Given the description of an element on the screen output the (x, y) to click on. 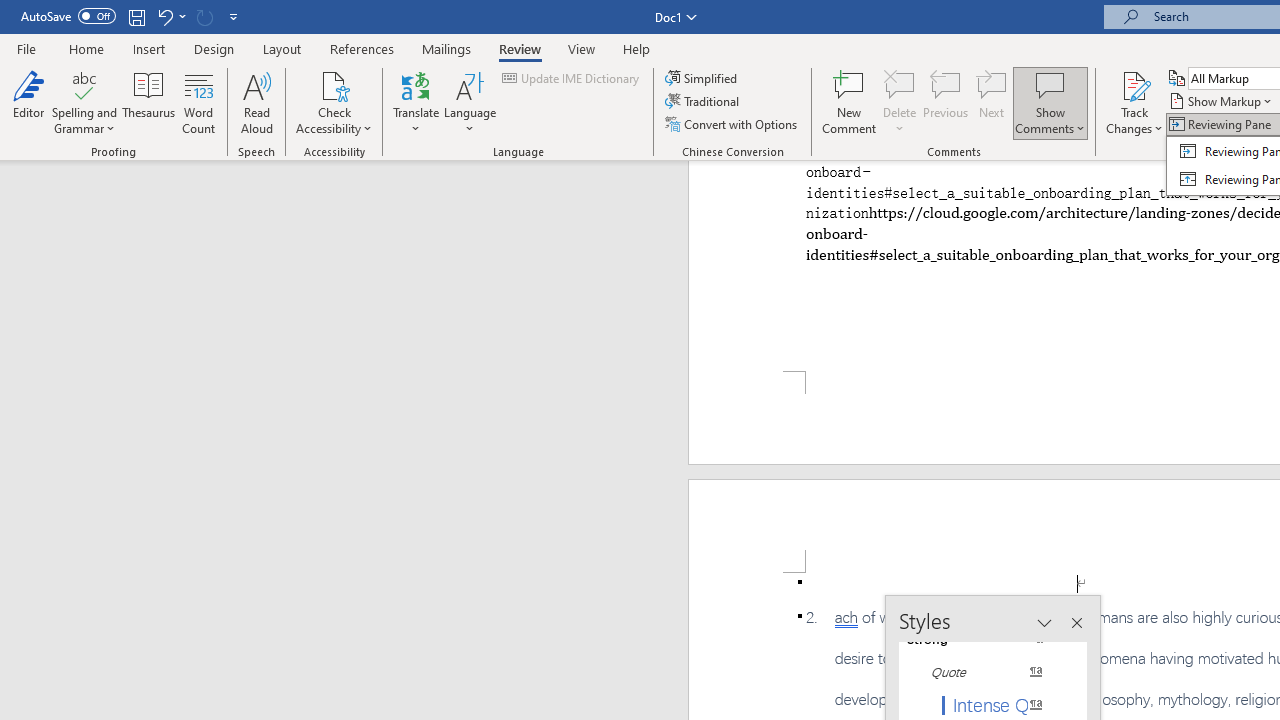
Can't Repeat (204, 15)
Spelling and Grammar (84, 84)
Spelling and Grammar (84, 102)
Reviewing Pane (1221, 124)
Strong (984, 638)
Translate (415, 102)
Check Accessibility (334, 102)
Check Accessibility (334, 84)
